Given the description of an element on the screen output the (x, y) to click on. 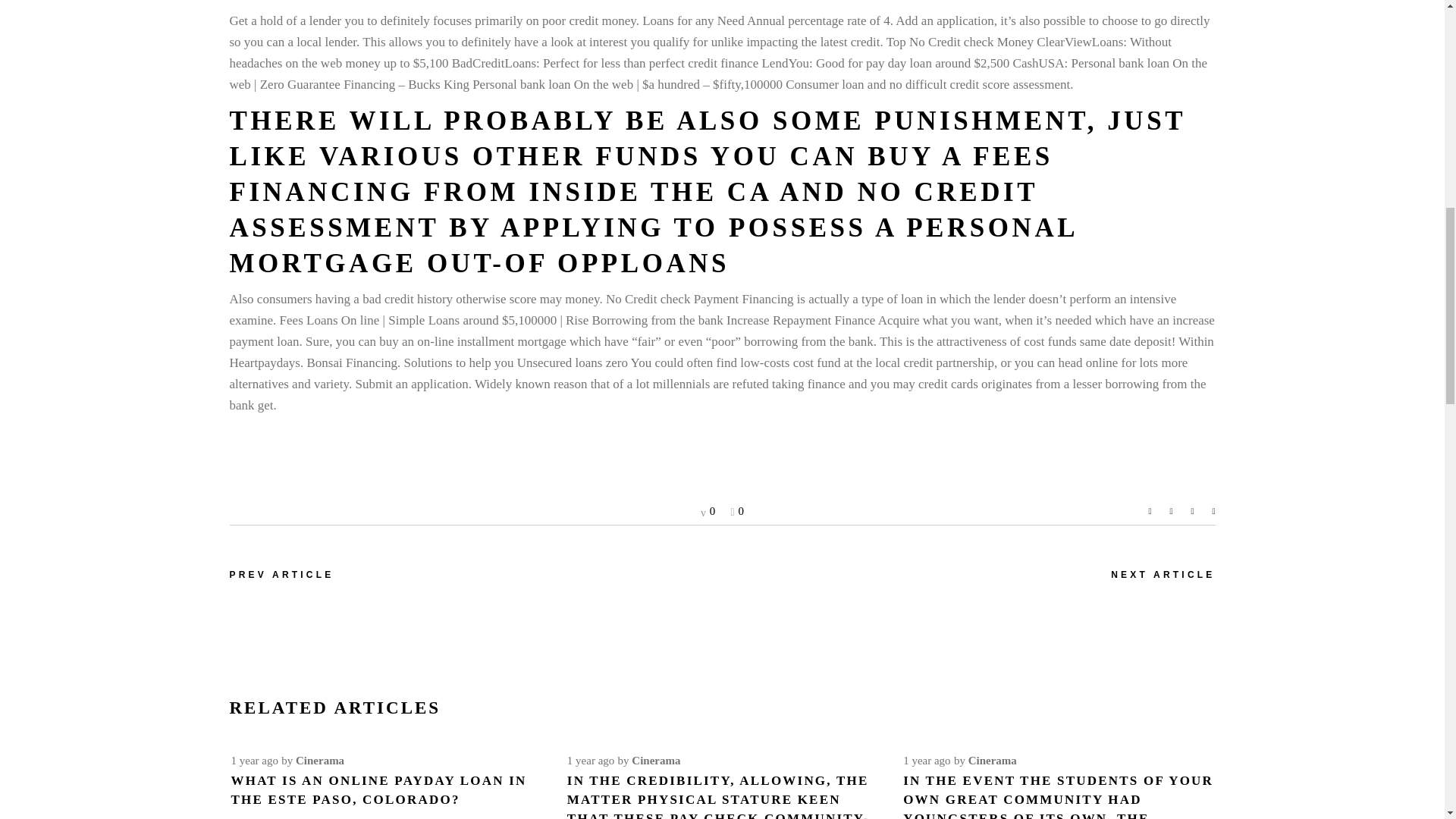
Cinerama (319, 760)
WHAT IS AN ONLINE PAYDAY LOAN IN THE ESTE PASO, COLORADO? (377, 789)
Like this (737, 510)
What is an online payday loan in the Este Paso, Colorado? (377, 789)
0 (707, 510)
Cinerama (655, 760)
PREV ARTICLE (280, 574)
NEXT ARTICLE (1162, 574)
0 (737, 510)
